Given the description of an element on the screen output the (x, y) to click on. 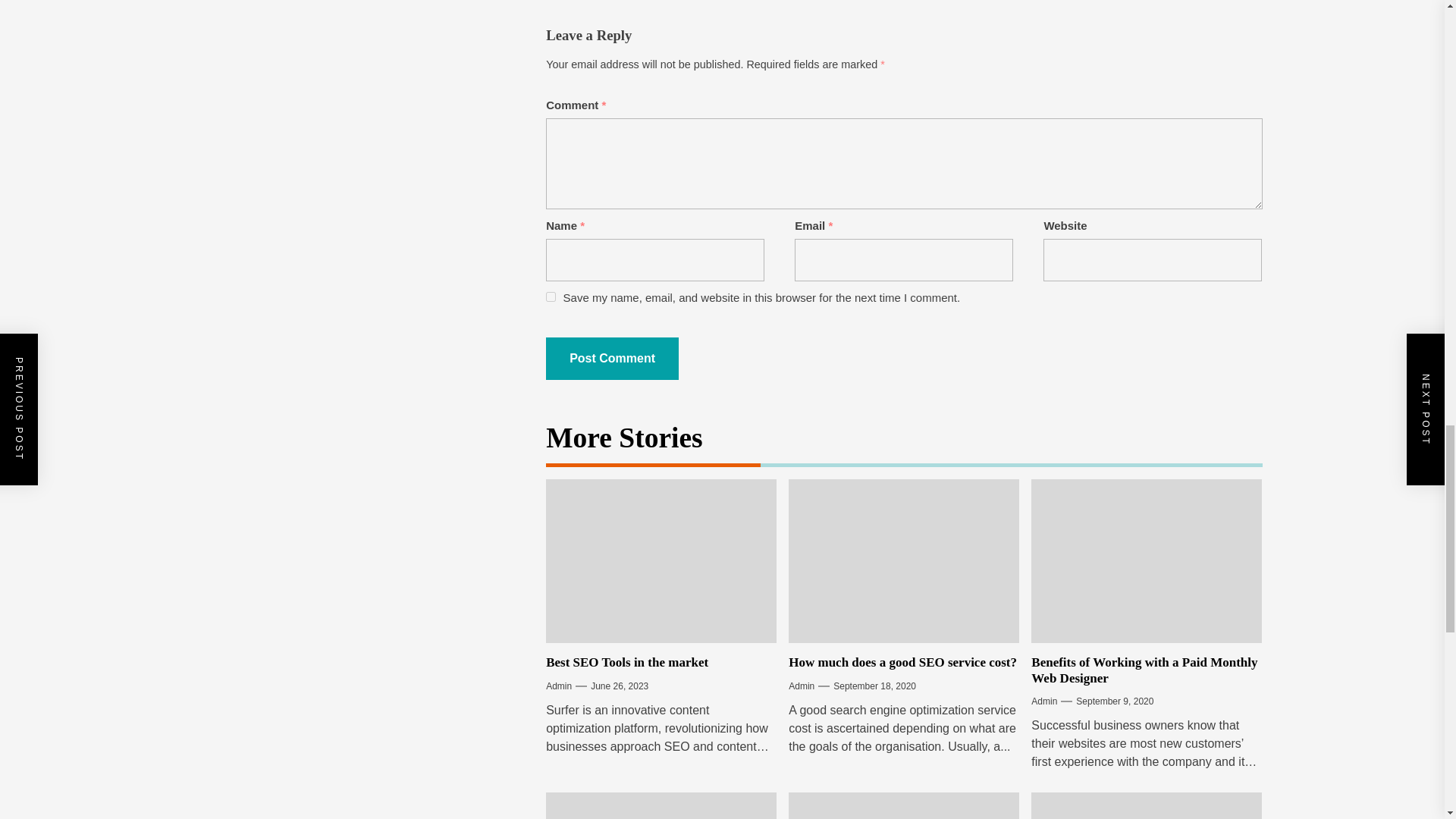
How much does a good SEO service cost? (902, 662)
Post Comment (612, 358)
Admin (559, 686)
June 26, 2023 (619, 686)
Post Comment (612, 358)
yes (551, 296)
Best SEO Tools in the market (626, 662)
Admin (801, 686)
